Given the description of an element on the screen output the (x, y) to click on. 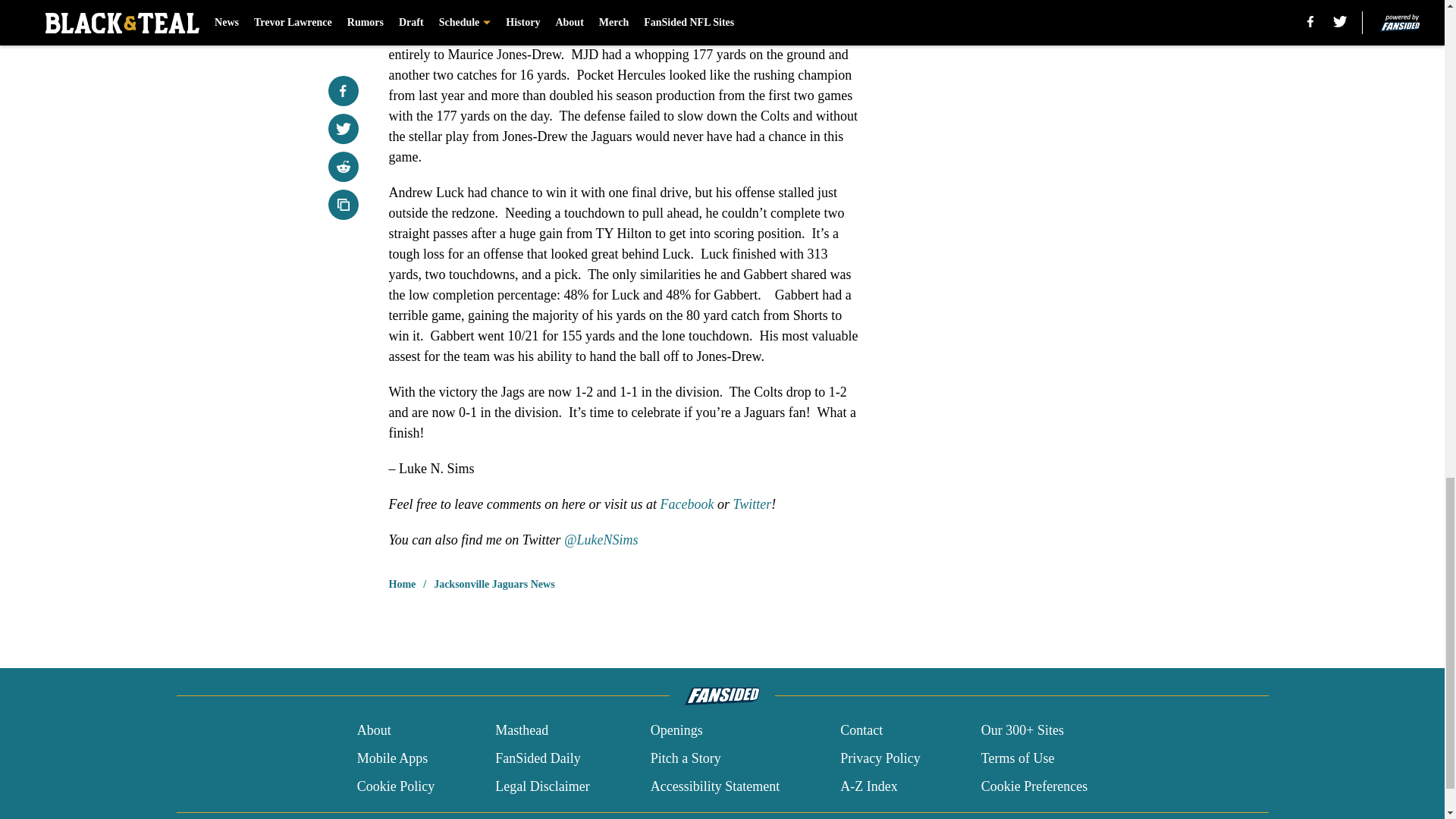
Cookie Preferences (1034, 786)
Home (401, 584)
Openings (676, 730)
Masthead (521, 730)
Cookie Policy (395, 786)
Twitter (752, 503)
Legal Disclaimer (542, 786)
Pitch a Story (685, 758)
Terms of Use (1017, 758)
Privacy Policy (880, 758)
Facebook (687, 503)
About (373, 730)
Accessibility Statement (714, 786)
FanSided Daily (537, 758)
Mobile Apps (392, 758)
